Given the description of an element on the screen output the (x, y) to click on. 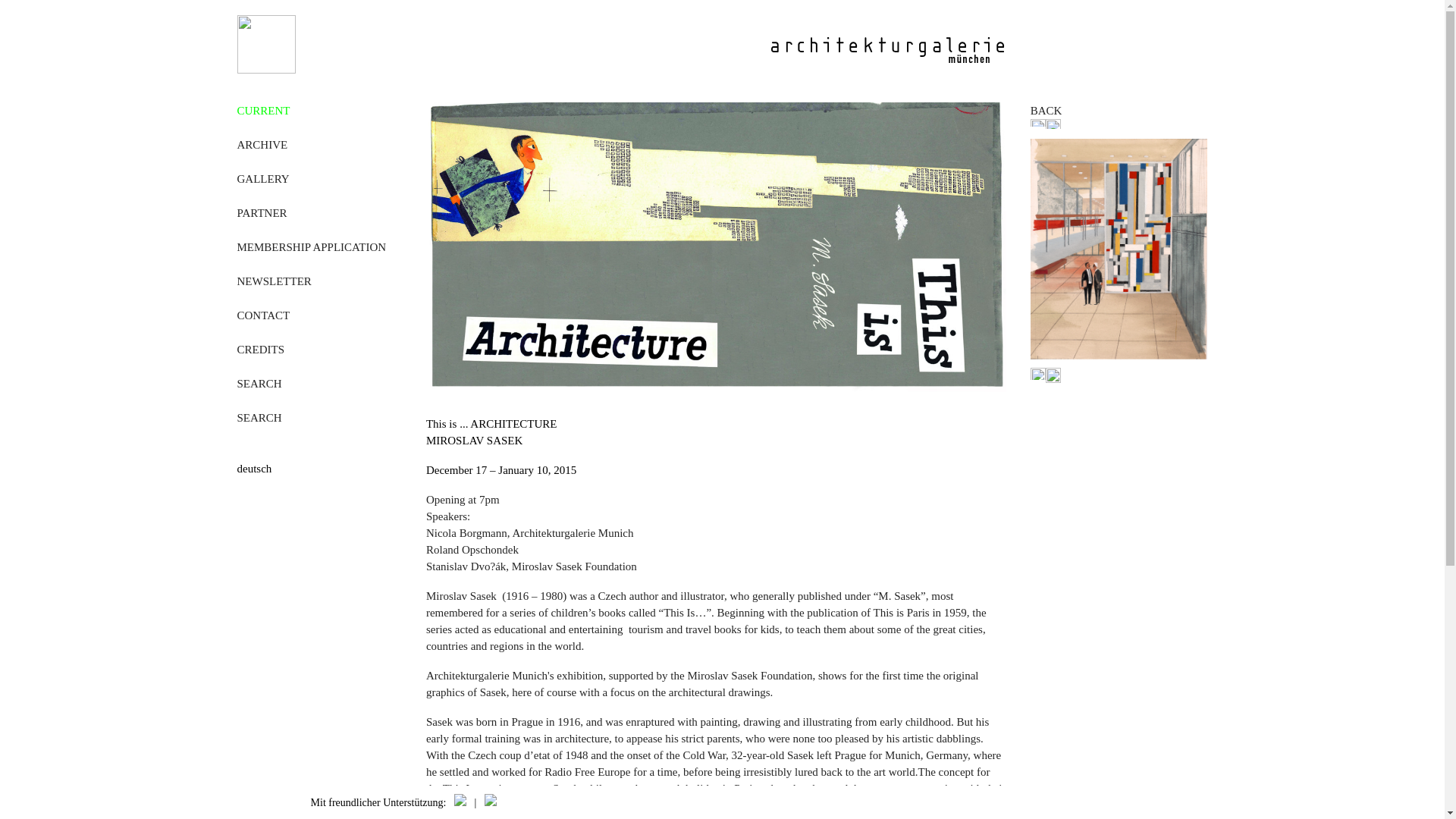
NEWSLETTER (273, 281)
ARCHIVE (260, 144)
SEARCH (258, 417)
deutsch (318, 468)
BACK (1046, 110)
MEMBERSHIP APPLICATION (310, 246)
SEARCH (258, 383)
CREDITS (259, 349)
CONTACT (262, 315)
PARTNER (260, 213)
GALLERY (261, 178)
CURRENT (262, 110)
